Given the description of an element on the screen output the (x, y) to click on. 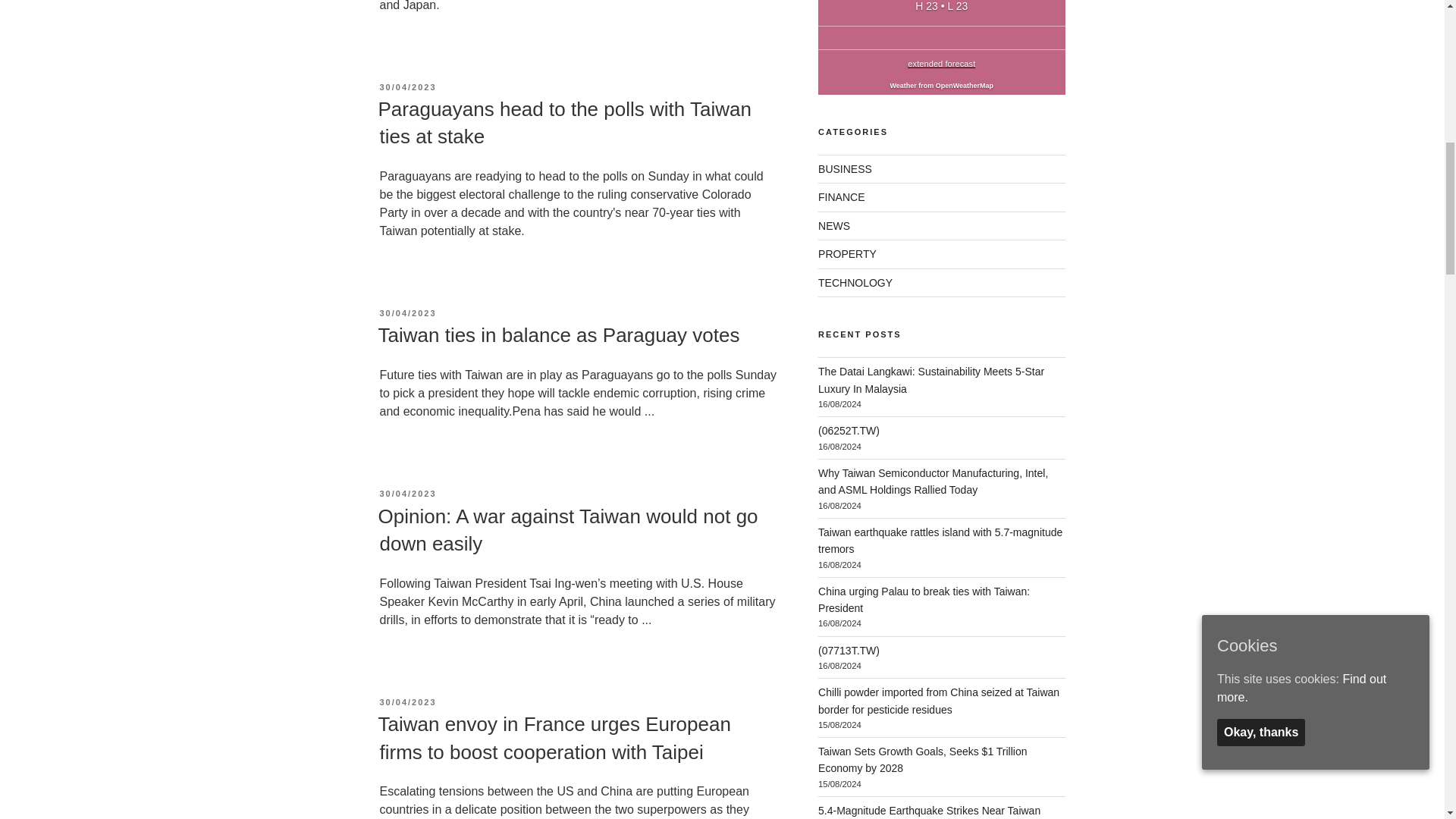
Taiwan ties in balance as Paraguay votes (558, 334)
Opinion: A war against Taiwan would not go down easily (567, 530)
Paraguayans head to the polls with Taiwan ties at stake (564, 122)
